Given the description of an element on the screen output the (x, y) to click on. 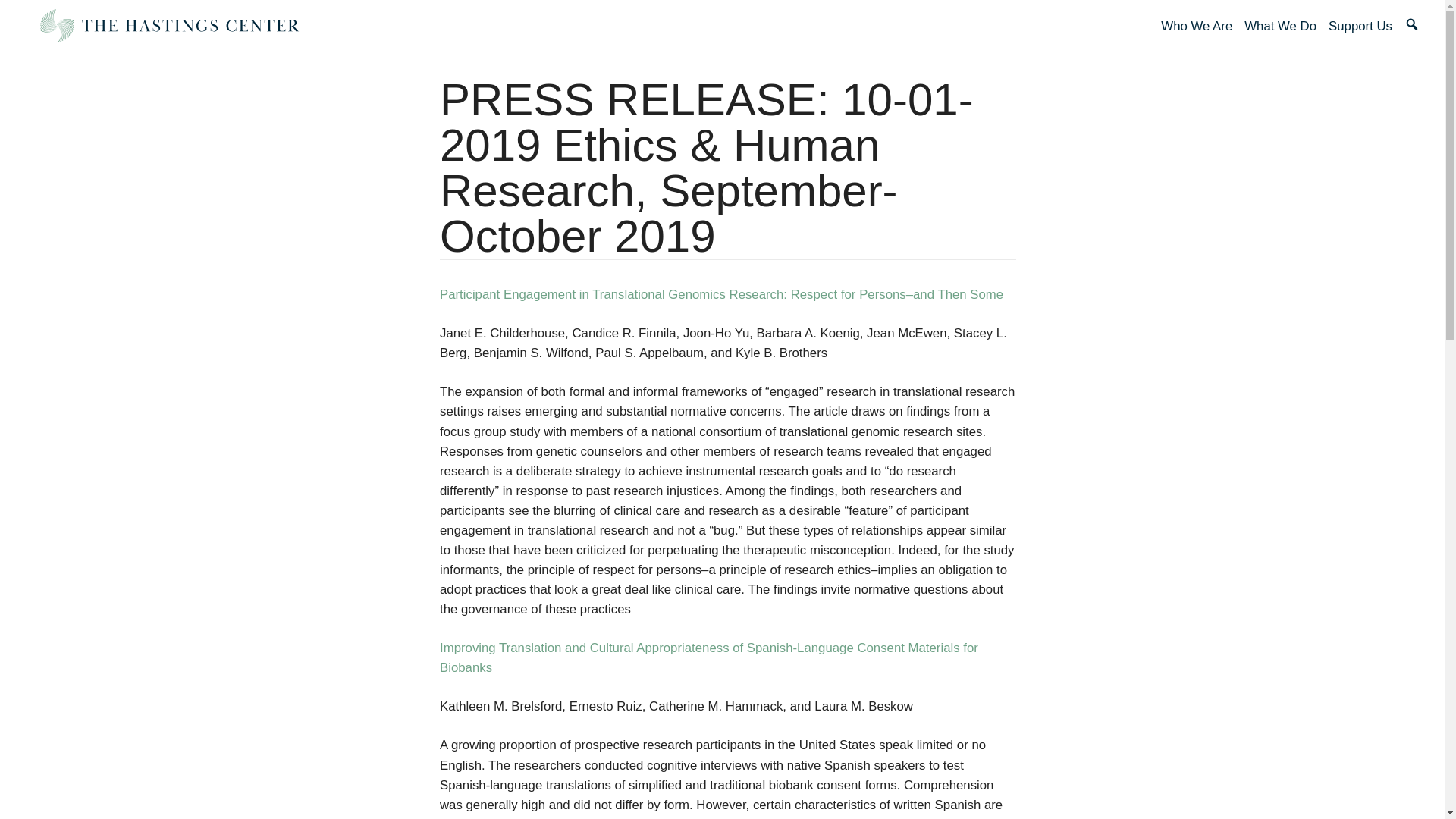
Support Us (1359, 26)
The Hastings Center (168, 26)
What We Do (1280, 26)
Who We Are (1195, 26)
